Given the description of an element on the screen output the (x, y) to click on. 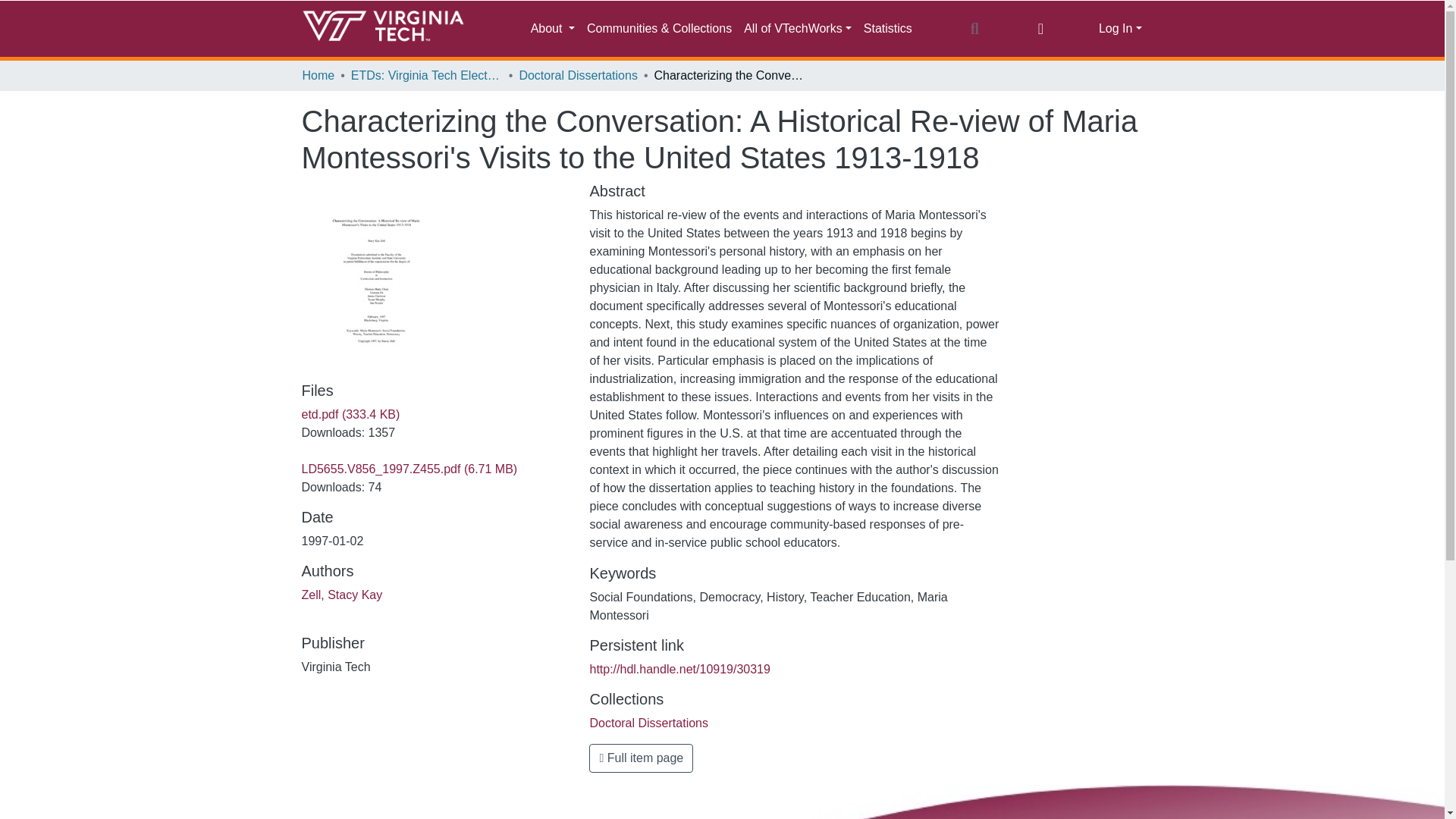
Doctoral Dissertations (577, 75)
Zell, Stacy Kay (341, 594)
Full item page (641, 758)
Language switch (1039, 28)
Statistics (887, 28)
Statistics (887, 28)
Doctoral Dissertations (648, 722)
All of VTechWorks (797, 28)
ETDs: Virginia Tech Electronic Theses and Dissertations (426, 75)
Log In (1119, 28)
